Given the description of an element on the screen output the (x, y) to click on. 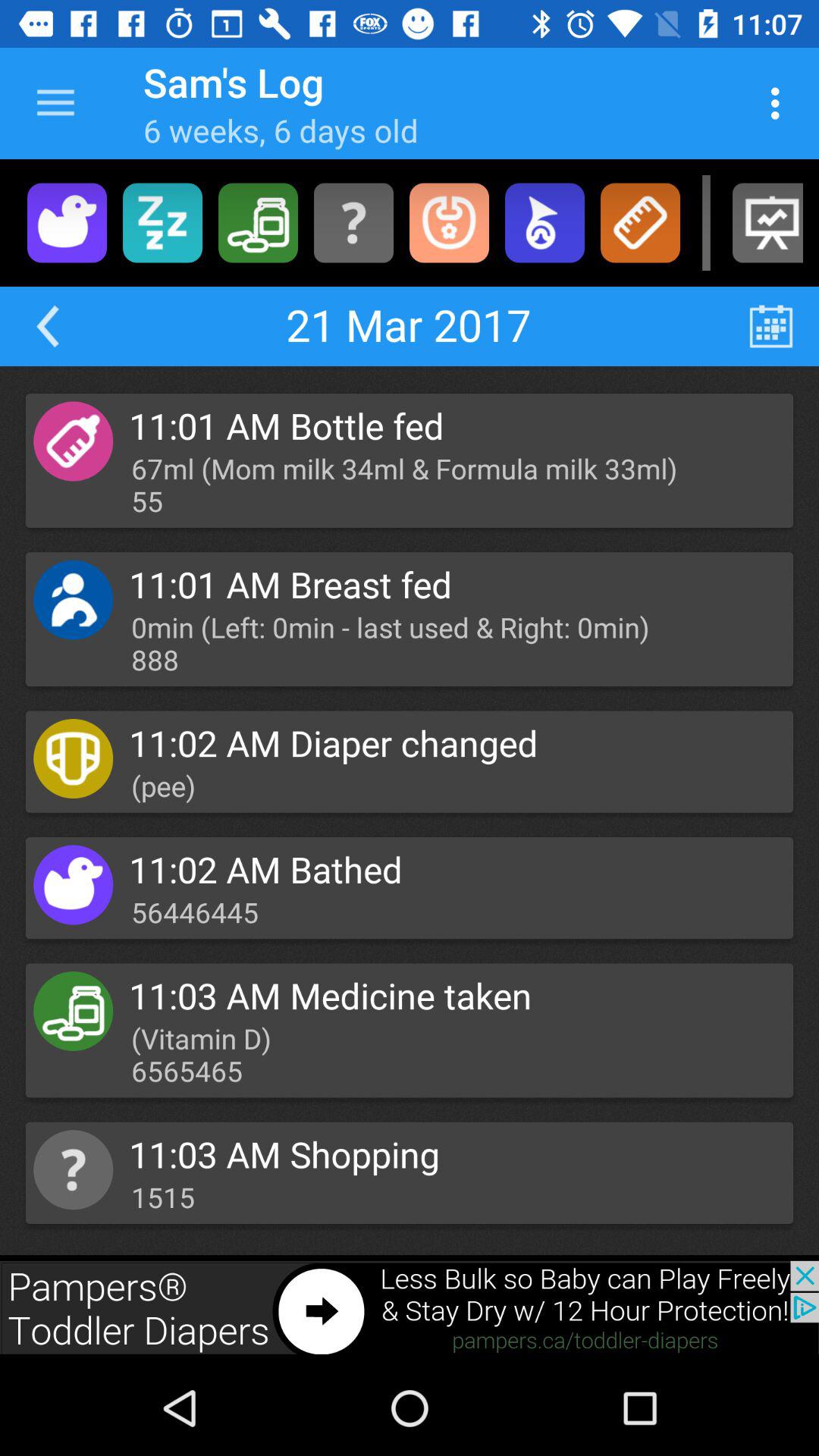
go back (47, 326)
